Given the description of an element on the screen output the (x, y) to click on. 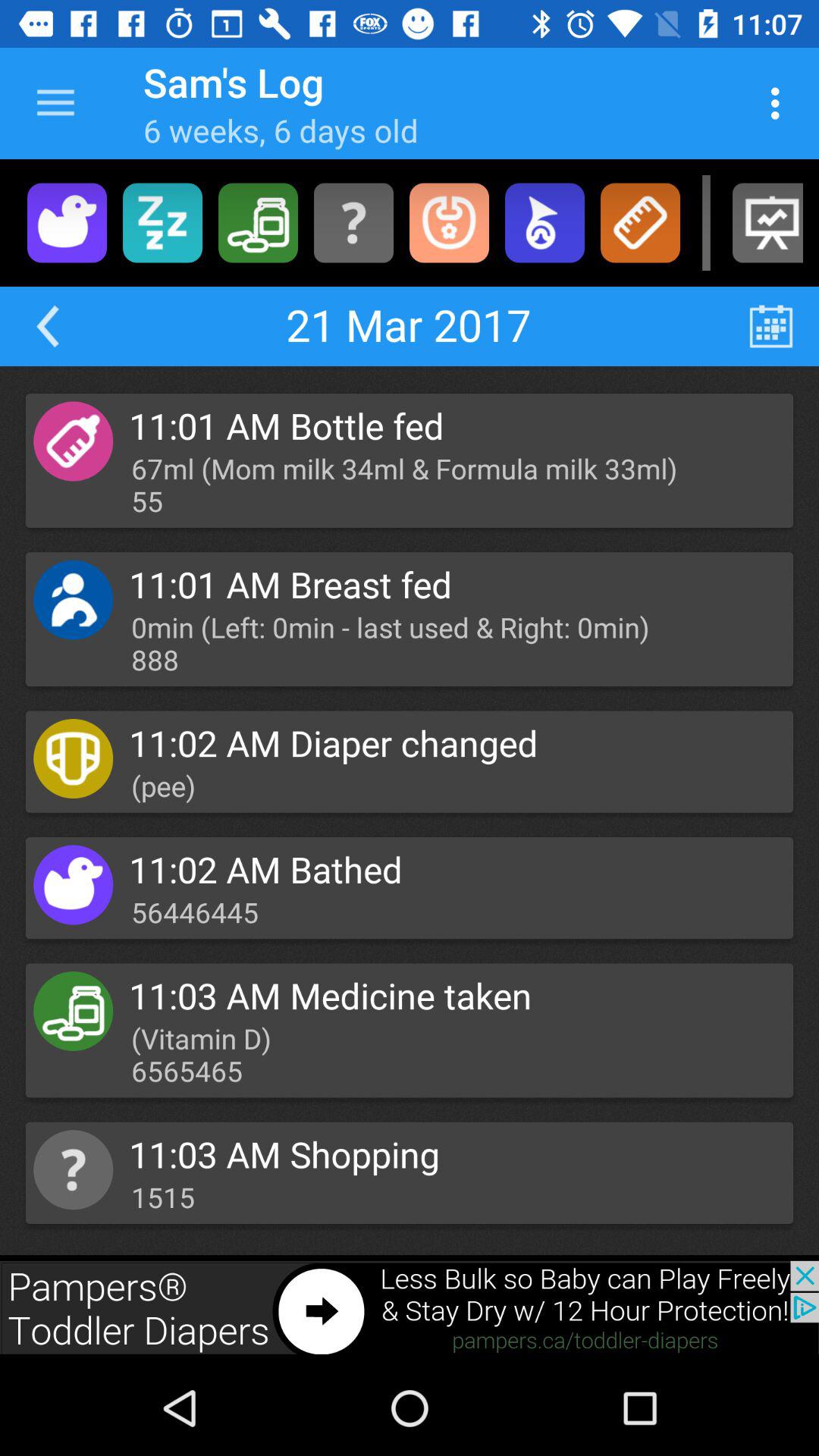
go back (47, 326)
